Given the description of an element on the screen output the (x, y) to click on. 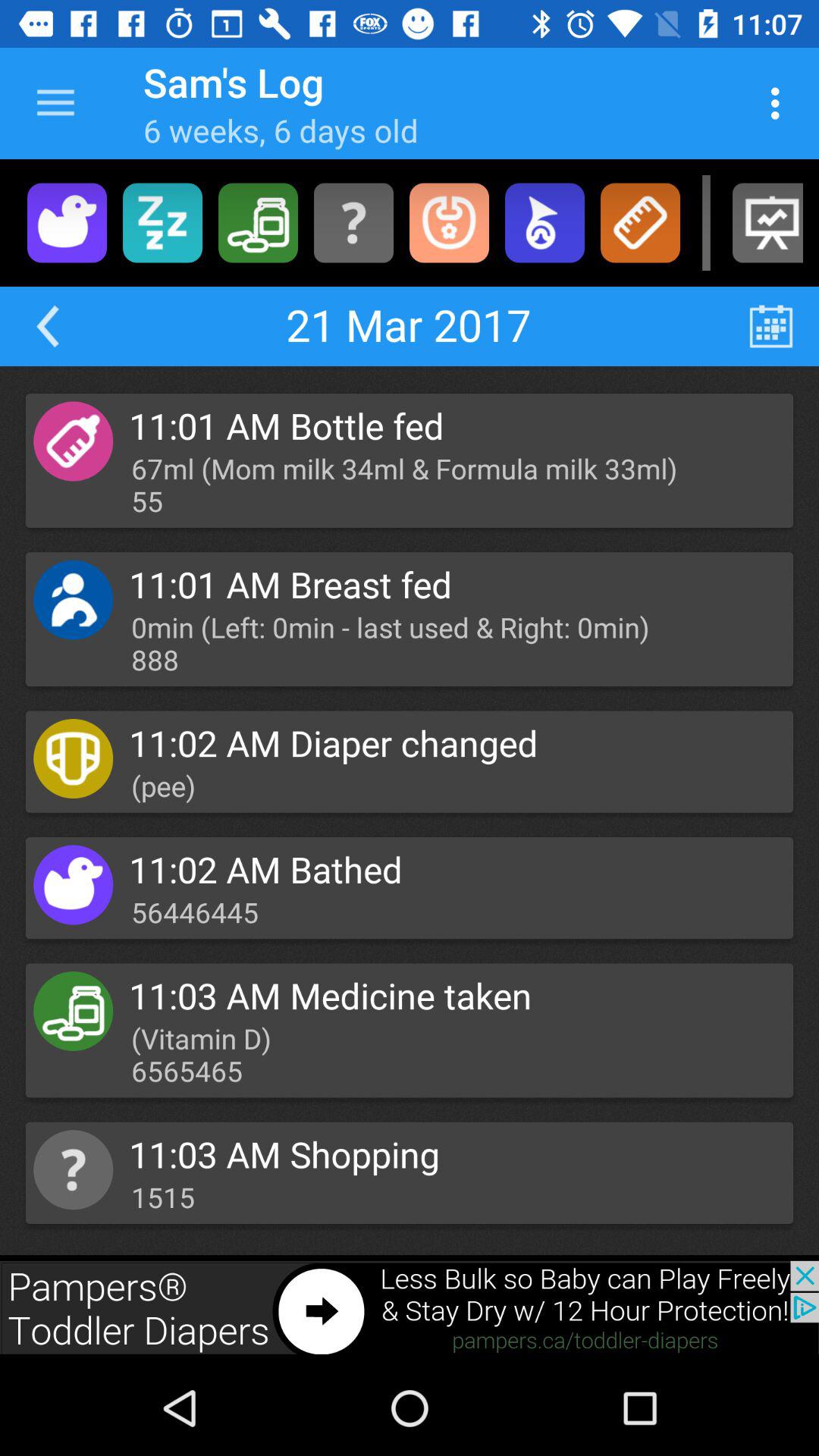
go back (47, 326)
